Given the description of an element on the screen output the (x, y) to click on. 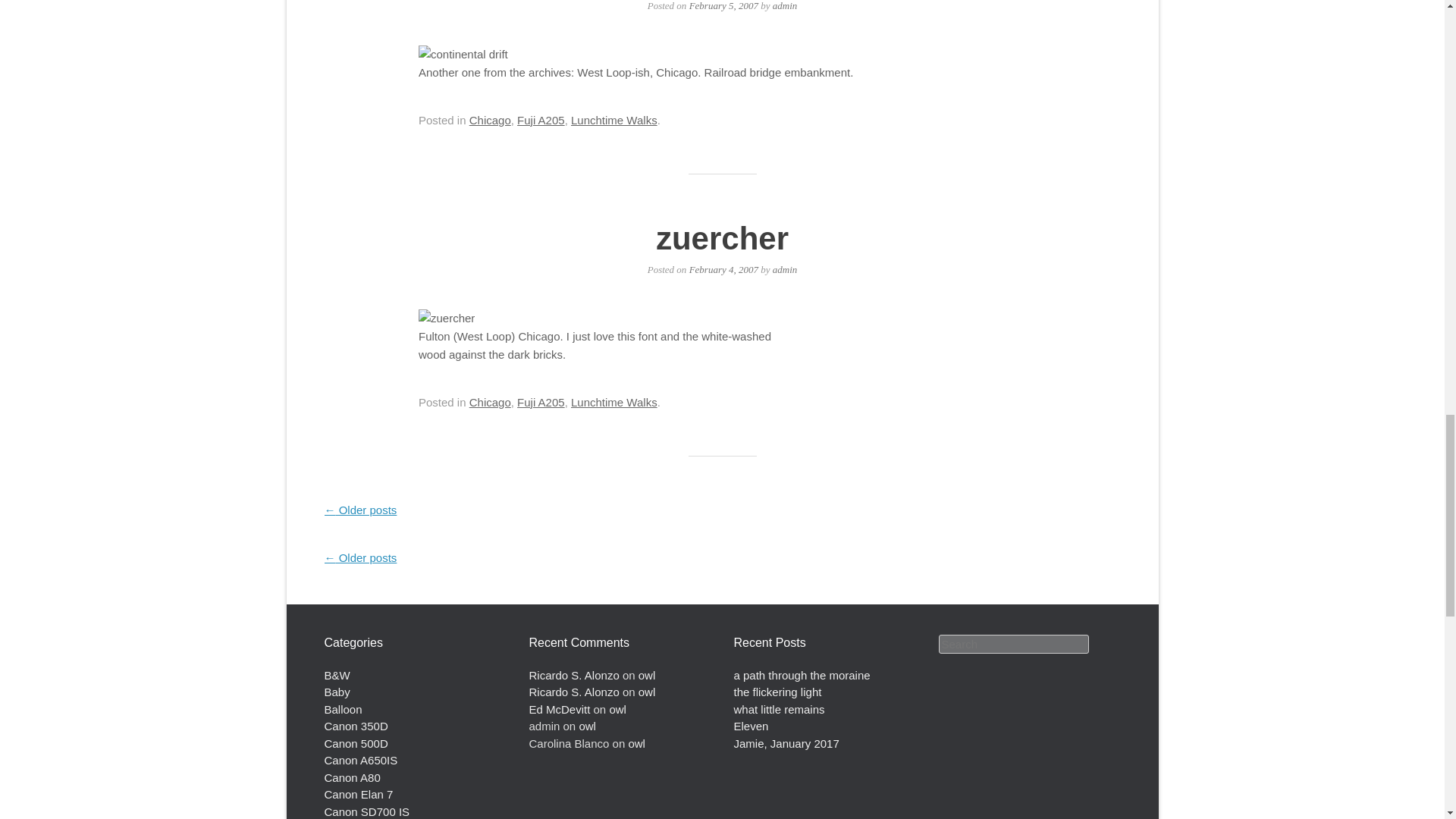
View all posts by admin (785, 269)
View all posts by admin (785, 5)
12:00 am (723, 269)
admin (785, 269)
admin (785, 5)
zuercher (722, 238)
Fuji A205 (540, 401)
Lunchtime Walks (614, 401)
Chicago (489, 401)
12:00 am (723, 5)
